Given the description of an element on the screen output the (x, y) to click on. 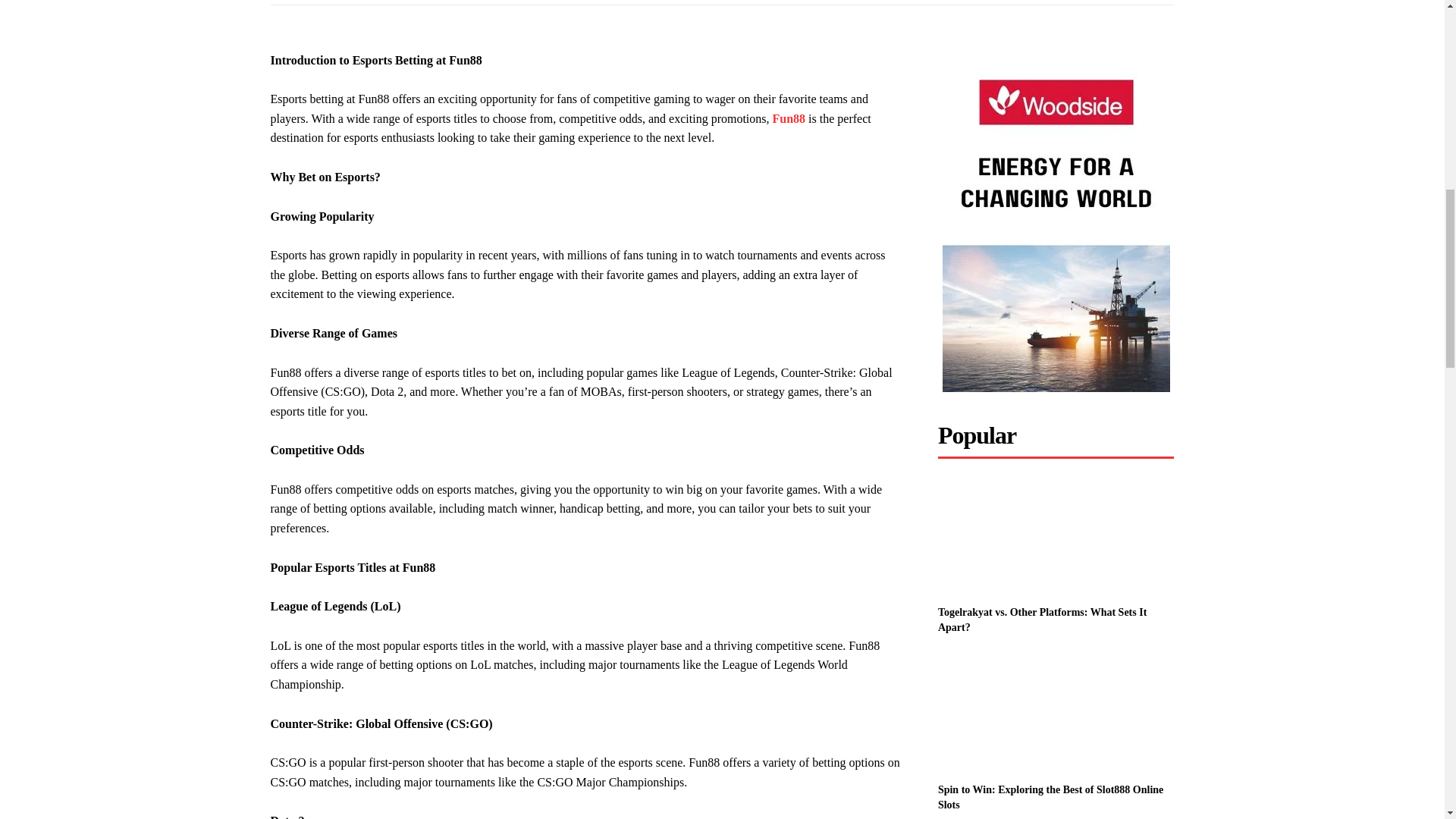
Spin to Win: Exploring the Best of Slot888 Online Slots (1055, 714)
Togelrakyat vs. Other Platforms: What Sets It Apart? (1055, 536)
Spin to Win: Exploring the Best of Slot888 Online Slots (1050, 796)
Togelrakyat vs. Other Platforms: What Sets It Apart? (1042, 619)
Fun88 (789, 118)
